Given the description of an element on the screen output the (x, y) to click on. 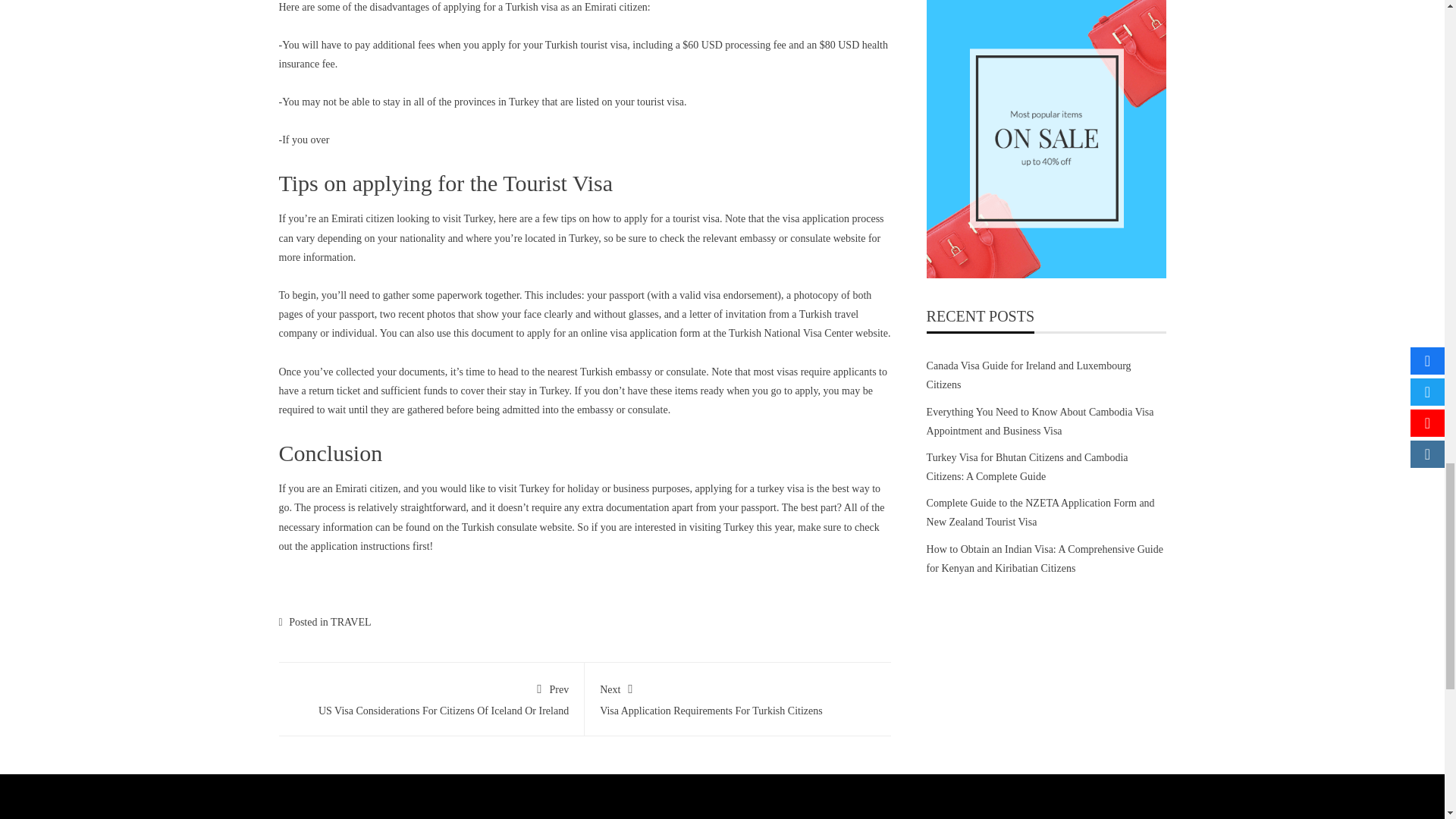
TRAVEL (737, 696)
